Given the description of an element on the screen output the (x, y) to click on. 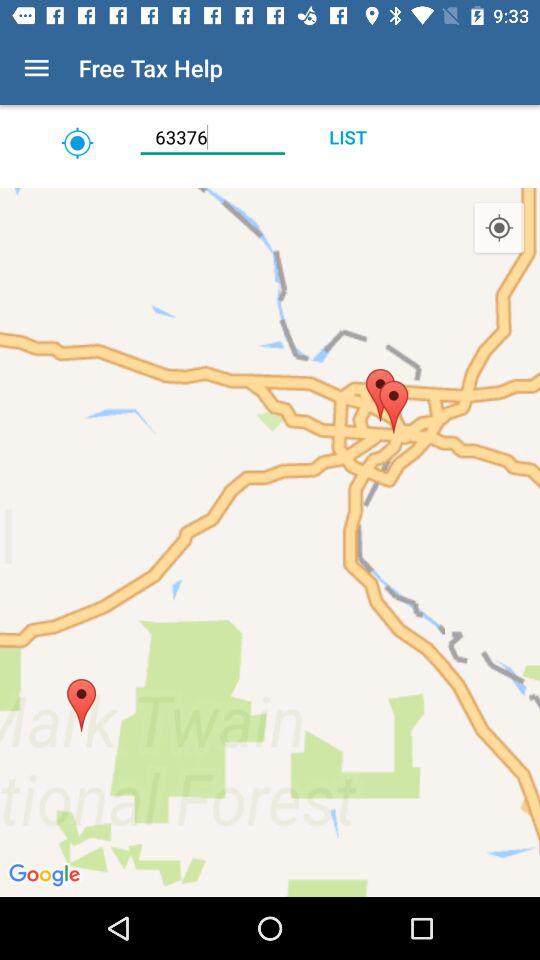
launch the list item (347, 137)
